Given the description of an element on the screen output the (x, y) to click on. 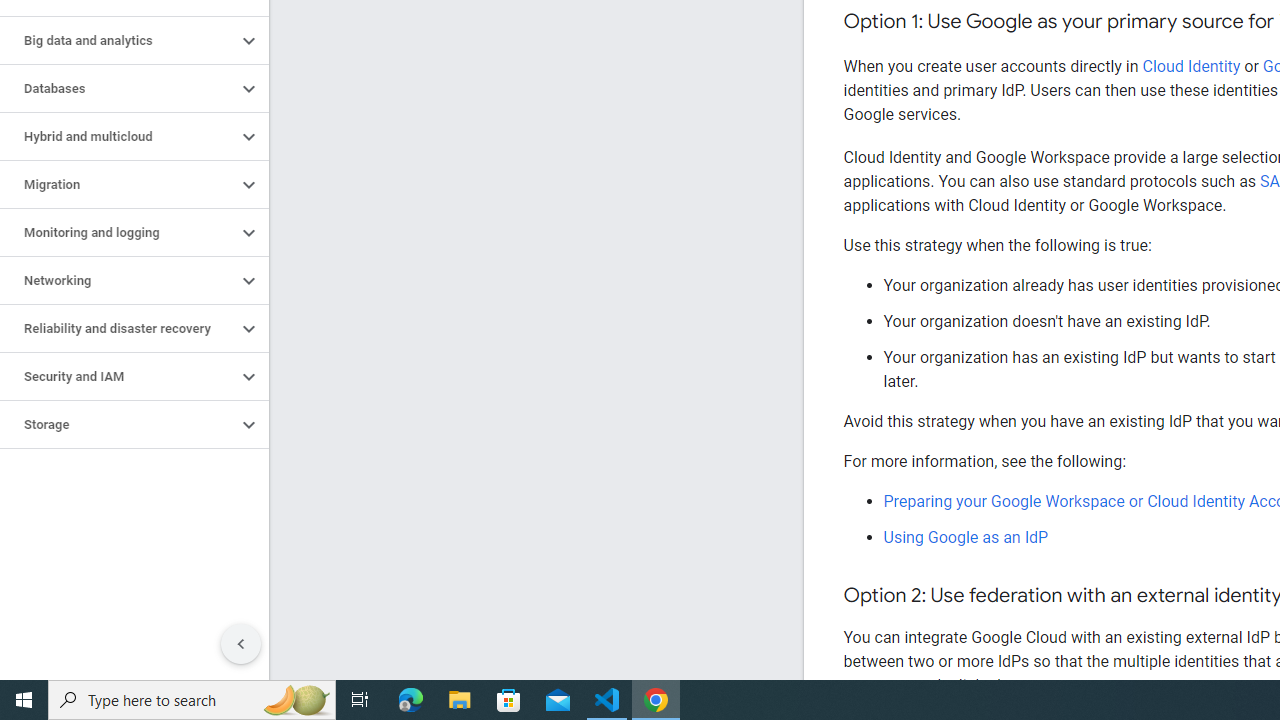
Migration (118, 184)
Networking (118, 281)
Storage (118, 425)
Cloud Identity (1191, 66)
Security and IAM (118, 376)
Hybrid and multicloud (118, 137)
Hide side navigation (241, 643)
Using Google as an IdP (966, 537)
Monitoring and logging (118, 232)
Big data and analytics (118, 40)
Databases (118, 88)
Reliability and disaster recovery (118, 328)
